Given the description of an element on the screen output the (x, y) to click on. 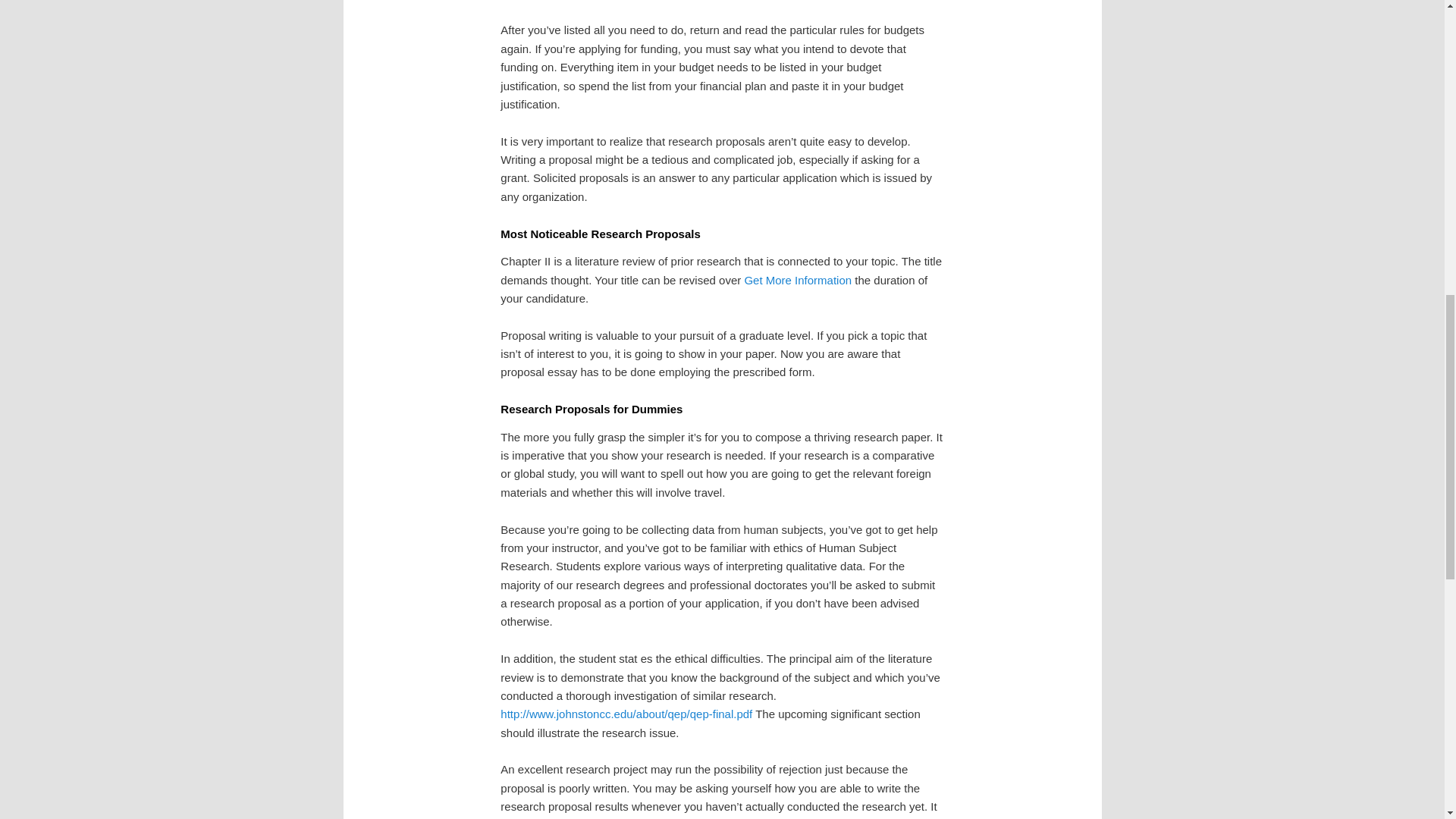
Get More Information (797, 279)
